Given the description of an element on the screen output the (x, y) to click on. 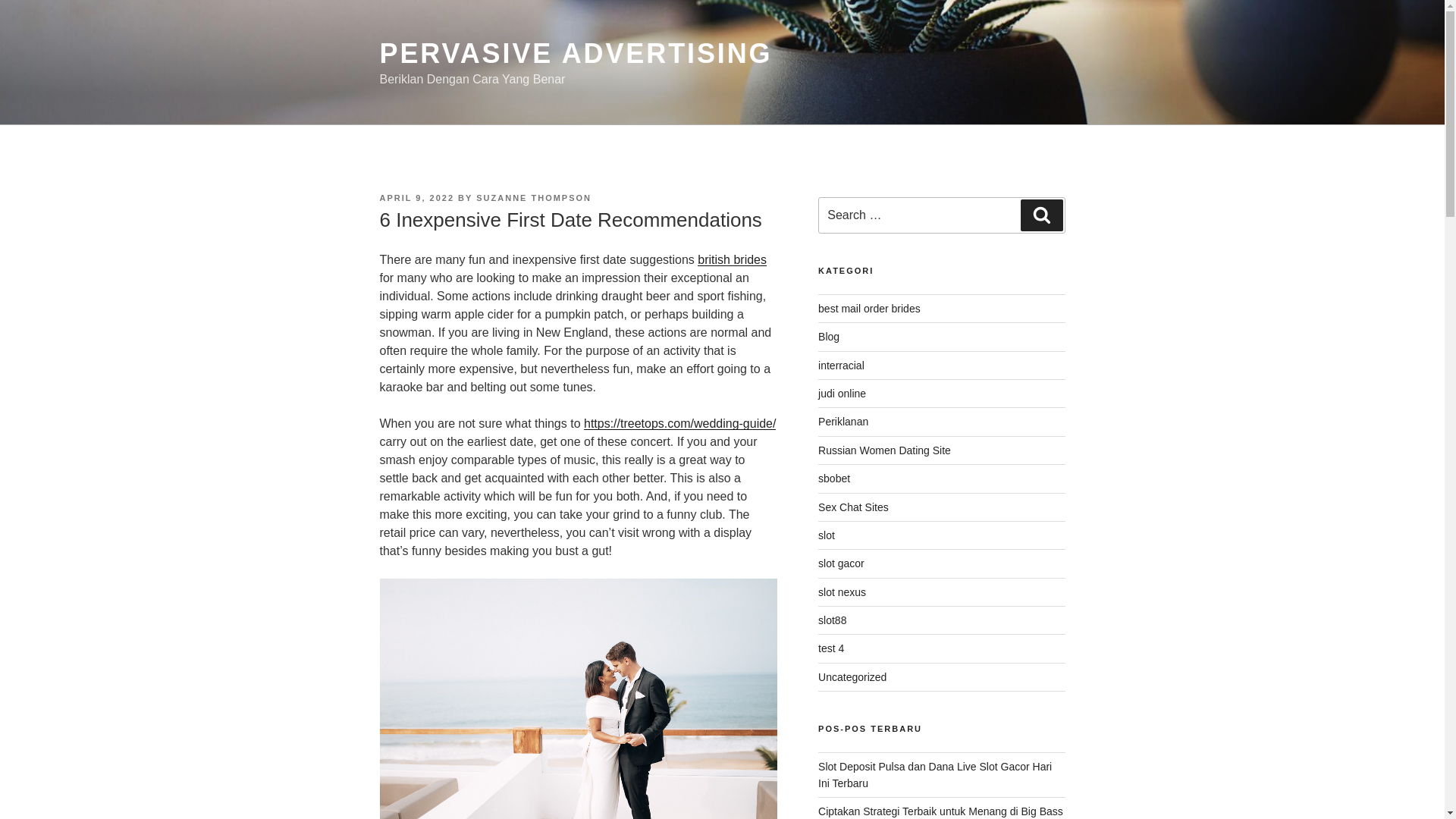
Periklanan (842, 421)
Blog (829, 336)
test 4 (831, 648)
slot nexus (842, 592)
british brides (732, 259)
slot gacor (841, 563)
APRIL 9, 2022 (416, 197)
Sex Chat Sites (853, 506)
Slot Deposit Pulsa dan Dana Live Slot Gacor Hari Ini Terbaru (934, 774)
interracial (841, 365)
slot88 (831, 620)
slot (826, 535)
judi online (842, 393)
PERVASIVE ADVERTISING (574, 52)
